Given the description of an element on the screen output the (x, y) to click on. 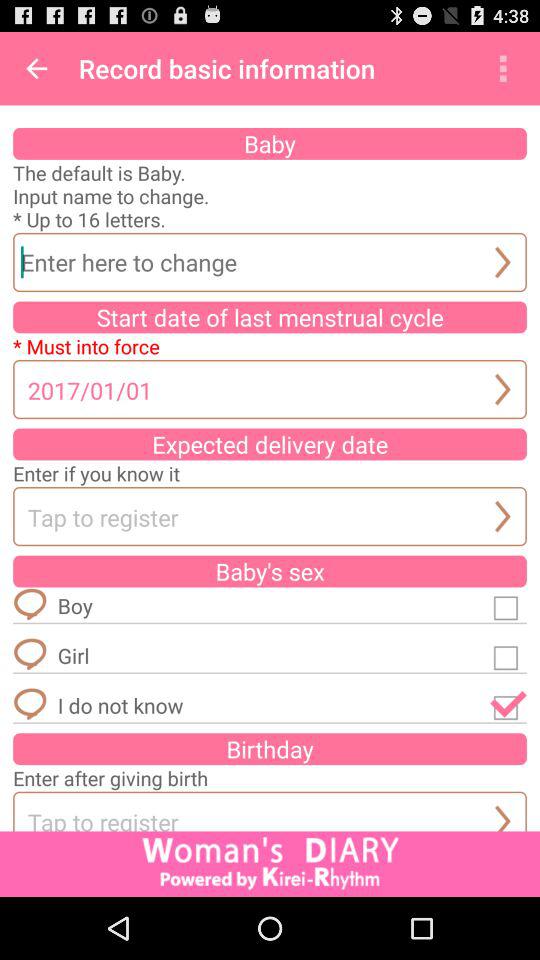
toggle gender (508, 655)
